Given the description of an element on the screen output the (x, y) to click on. 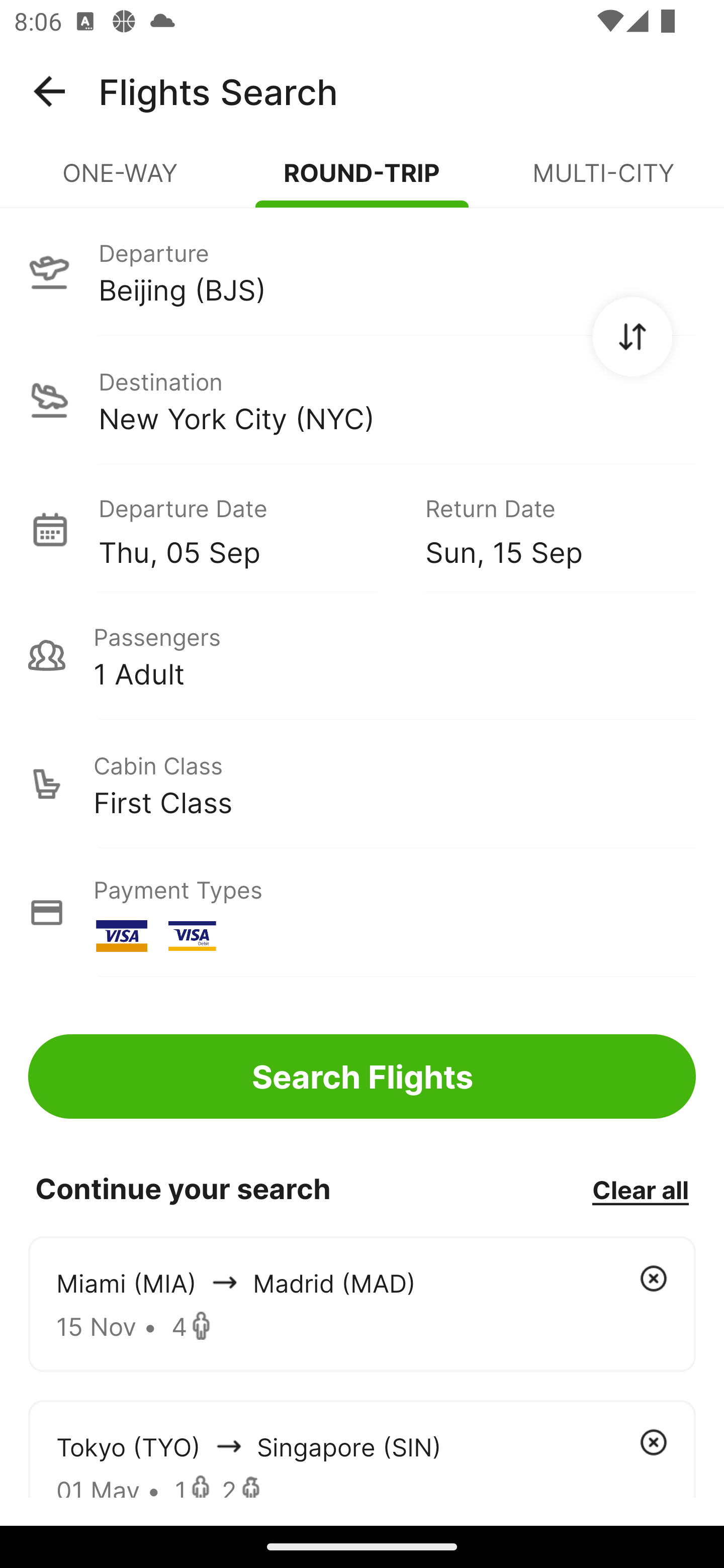
ONE-WAY (120, 180)
ROUND-TRIP (361, 180)
MULTI-CITY (603, 180)
Departure Beijing (BJS) (362, 270)
Destination New York City (NYC) (362, 400)
Departure Date Thu, 05 Sep (247, 528)
Return Date Sun, 15 Sep (546, 528)
Passengers 1 Adult (362, 655)
Cabin Class First Class (362, 783)
Payment Types (362, 912)
Search Flights (361, 1075)
Clear all (640, 1189)
Miami (MIA)  arrowIcon  Madrid (MAD) 15 Nov •  4  (361, 1303)
